Given the description of an element on the screen output the (x, y) to click on. 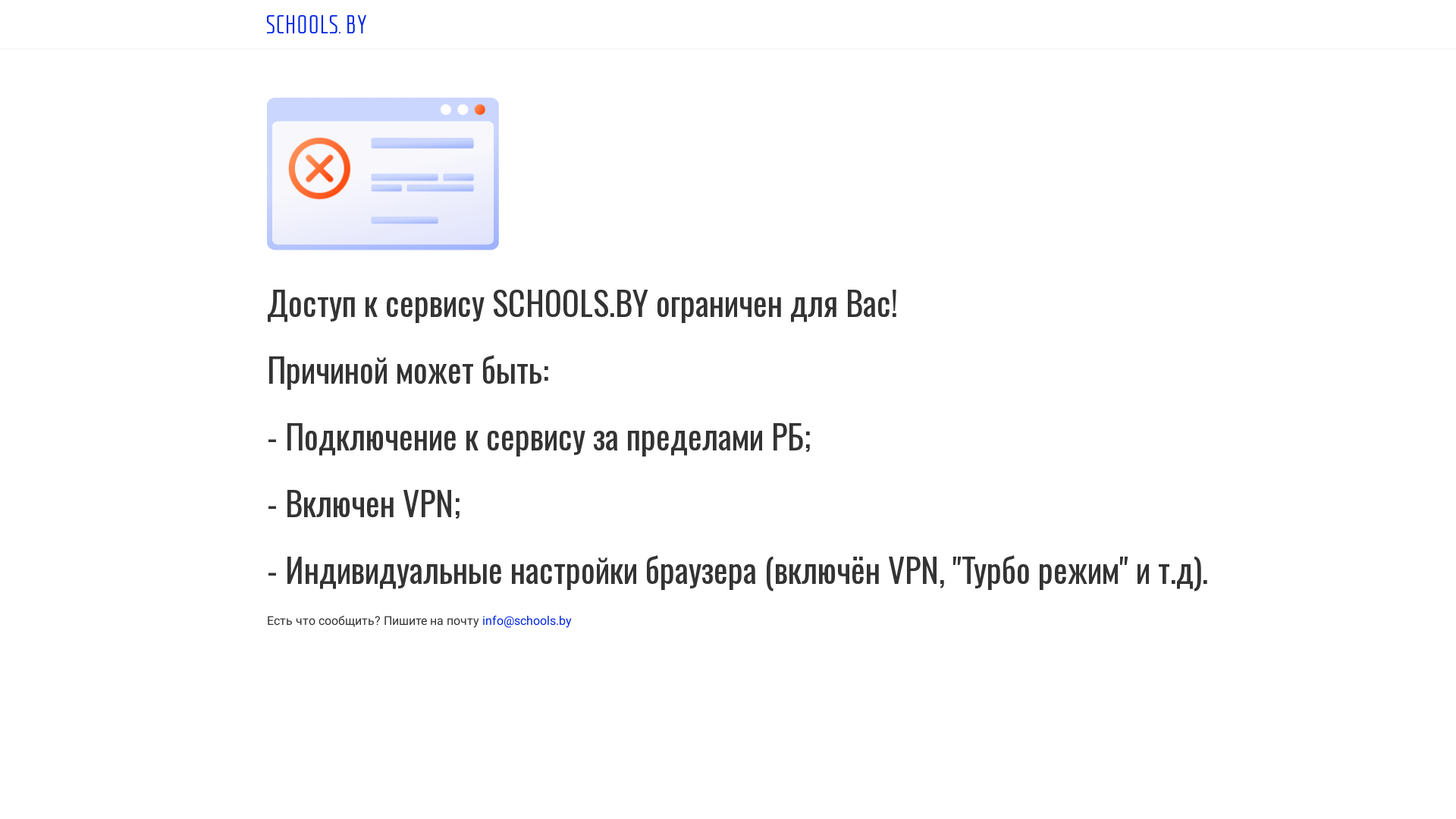
info@schools.by Element type: text (526, 620)
